Given the description of an element on the screen output the (x, y) to click on. 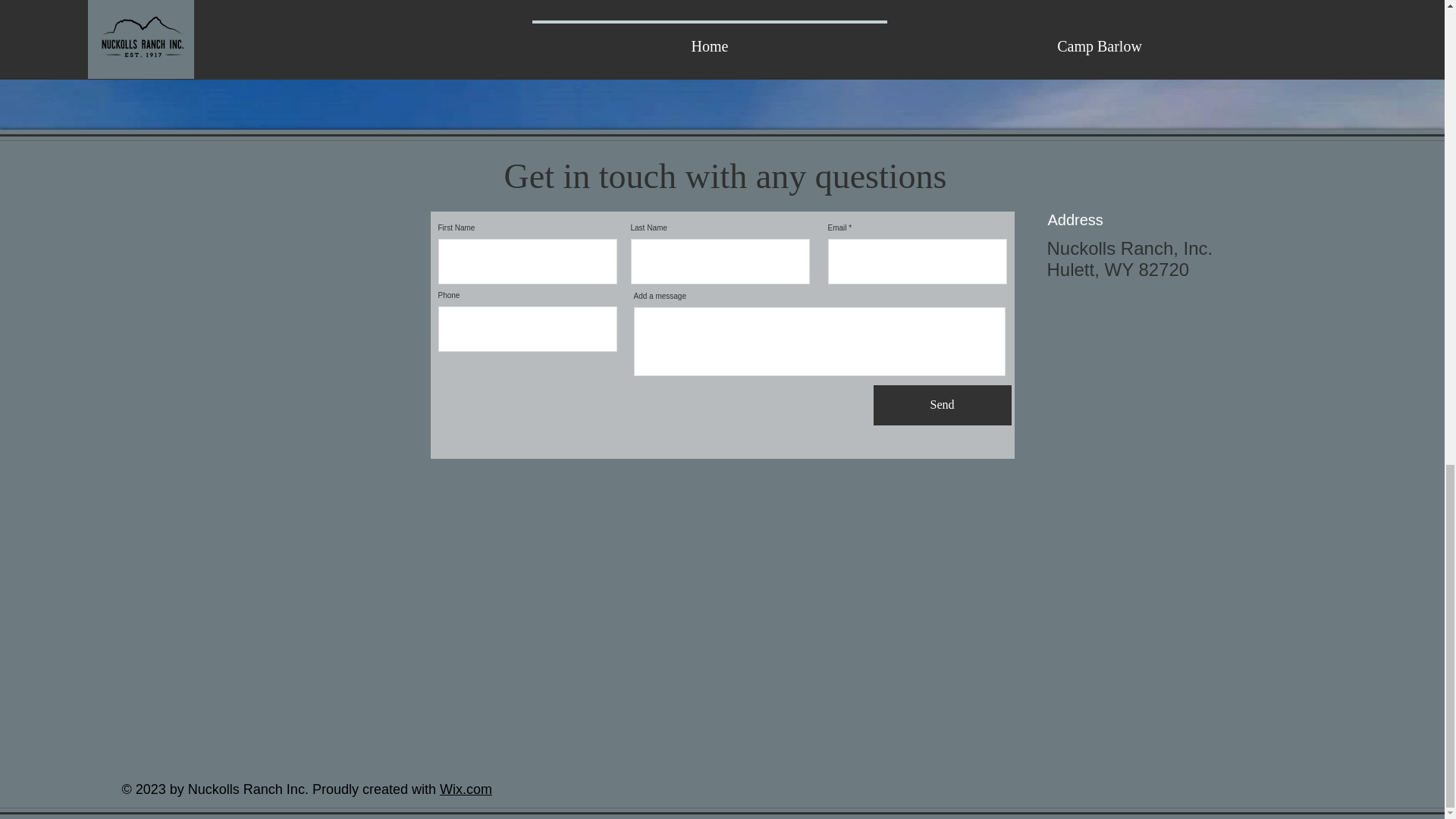
Wix.com (465, 789)
Send (942, 404)
